Given the description of an element on the screen output the (x, y) to click on. 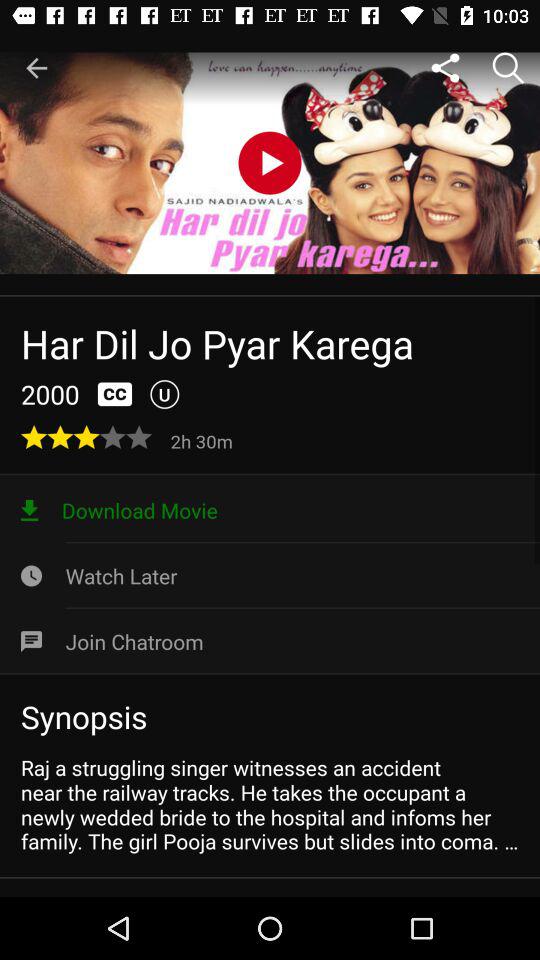
click icon above the join chatroom icon (270, 575)
